Given the description of an element on the screen output the (x, y) to click on. 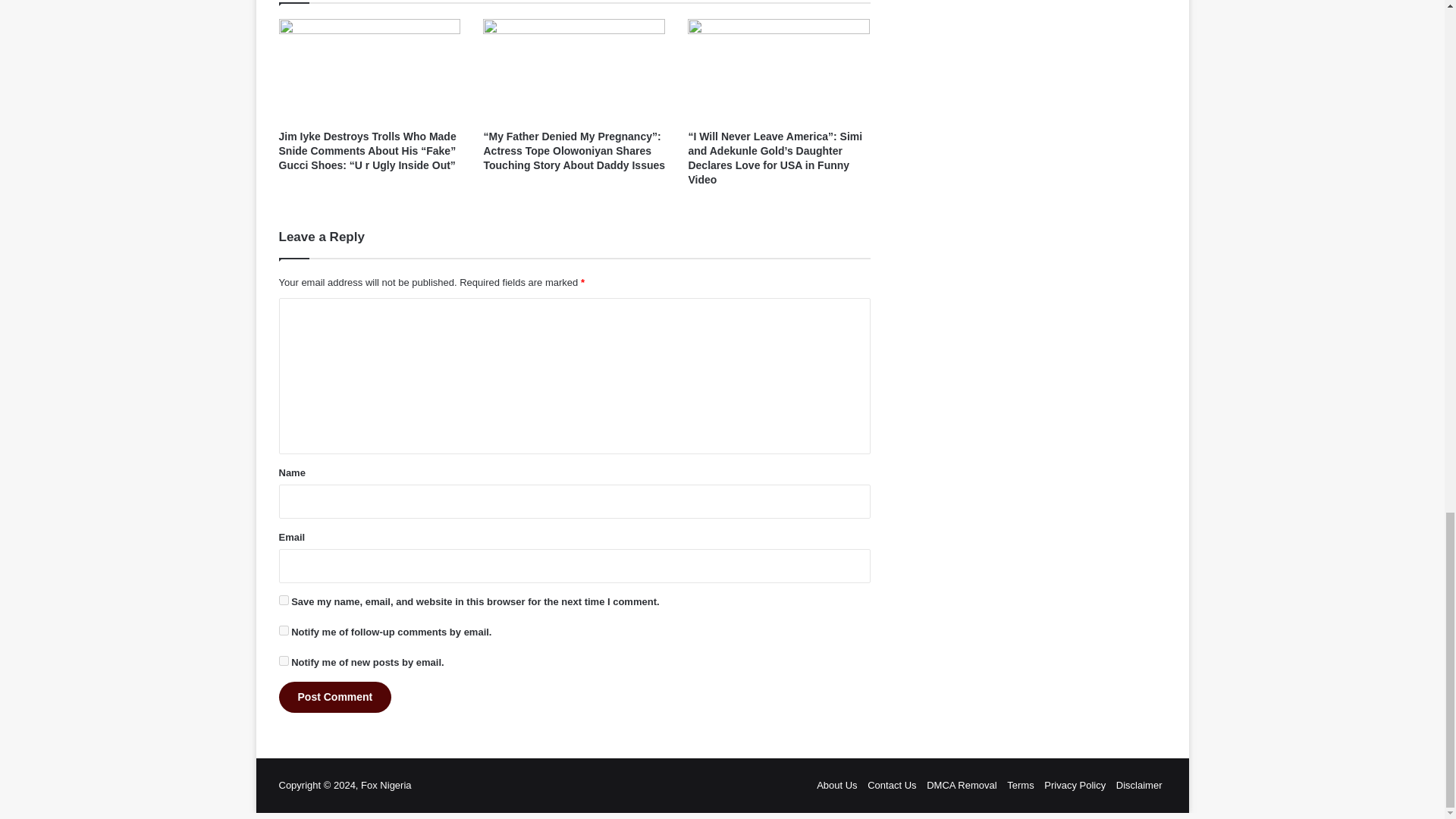
subscribe (283, 660)
Post Comment (335, 696)
Disclaimer (1138, 785)
Terms (1020, 785)
Post Comment (335, 696)
About Us (836, 785)
DMCA Removal (960, 785)
Contact Us (891, 785)
yes (283, 600)
subscribe (283, 630)
Privacy Policy (1074, 785)
